Given the description of an element on the screen output the (x, y) to click on. 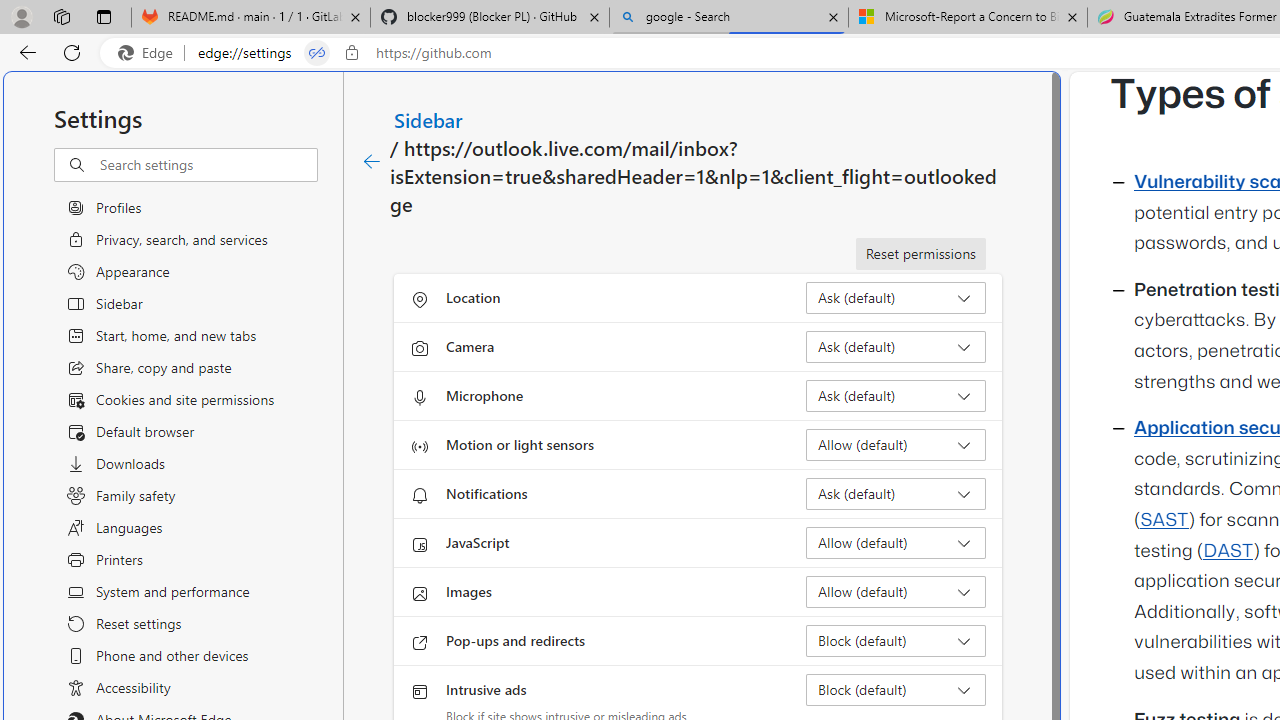
Class: c01182 (371, 161)
Reset permissions (920, 254)
Edge (150, 53)
Go back to Sidebar page. (372, 162)
Microphone Ask (default) (895, 395)
Tabs in split screen (317, 53)
JavaScript Allow (default) (895, 542)
Notifications Ask (default) (895, 493)
DAST (1228, 551)
Location Ask (default) (895, 297)
